Given the description of an element on the screen output the (x, y) to click on. 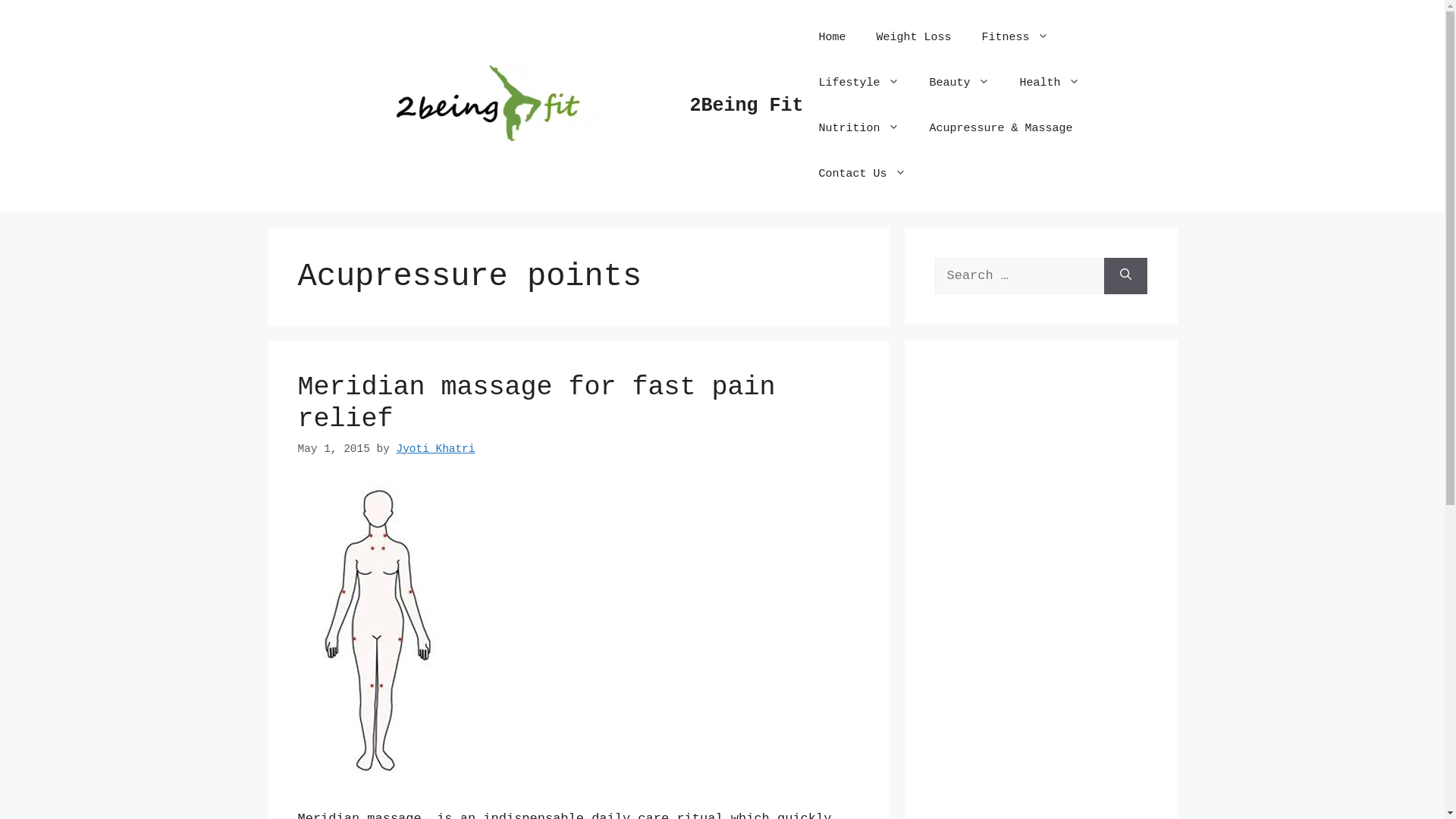
Beauty Element type: text (959, 83)
2Being Fit Element type: text (746, 105)
Jyoti Khatri Element type: text (434, 448)
Weight Loss Element type: text (913, 37)
Fitness Element type: text (1014, 37)
Health Element type: text (1049, 83)
Search for: Element type: hover (1018, 275)
Acupressure & Massage Element type: text (1001, 128)
Contact Us Element type: text (862, 174)
Meridian massage for fast pain relief Element type: text (536, 403)
Lifestyle Element type: text (858, 83)
Nutrition Element type: text (858, 128)
Home Element type: text (832, 37)
